Given the description of an element on the screen output the (x, y) to click on. 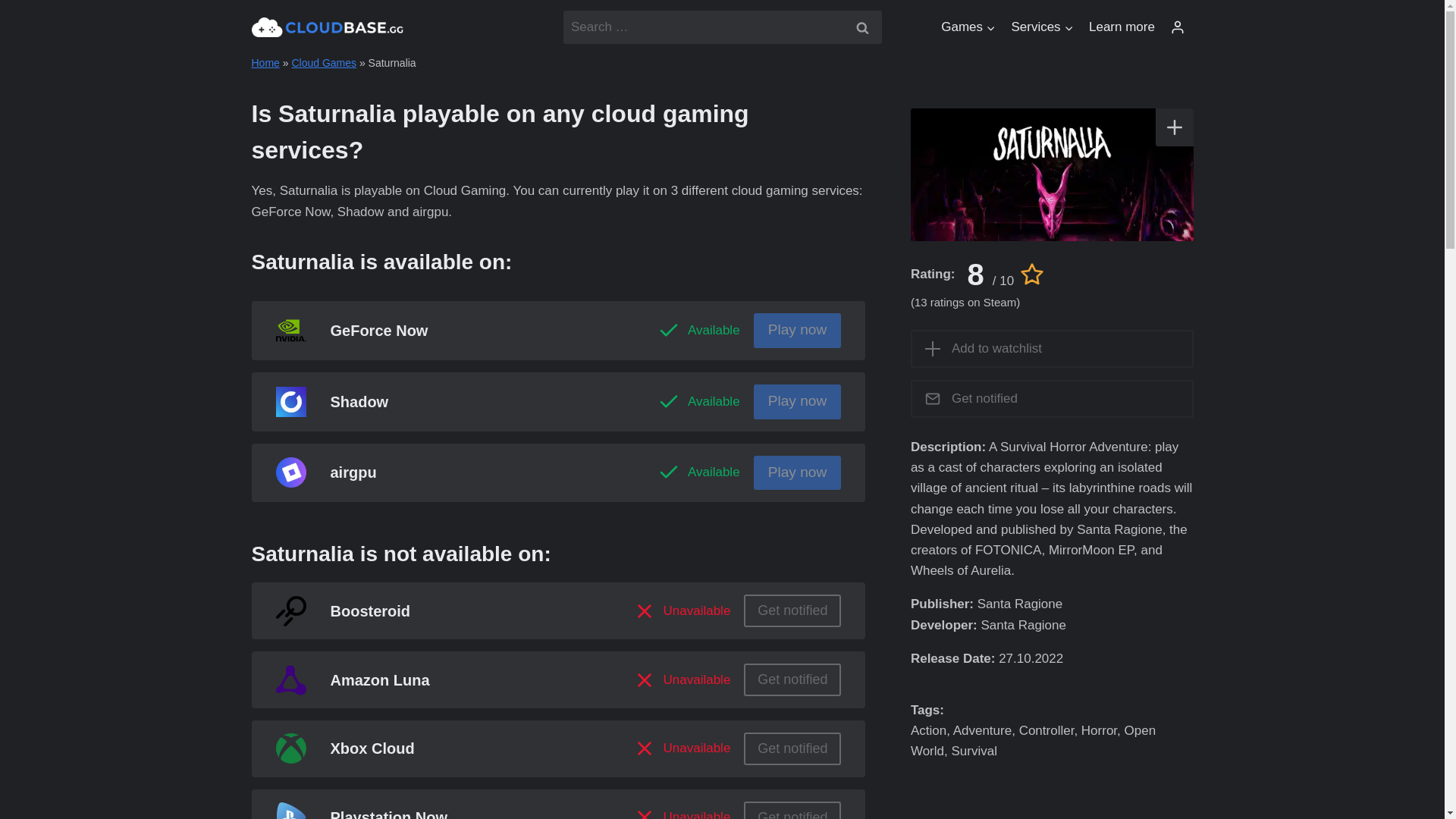
Search (861, 27)
Search (861, 27)
Saturnalia 2 (1052, 174)
Search (861, 27)
Games (968, 27)
Services (1042, 27)
